Given the description of an element on the screen output the (x, y) to click on. 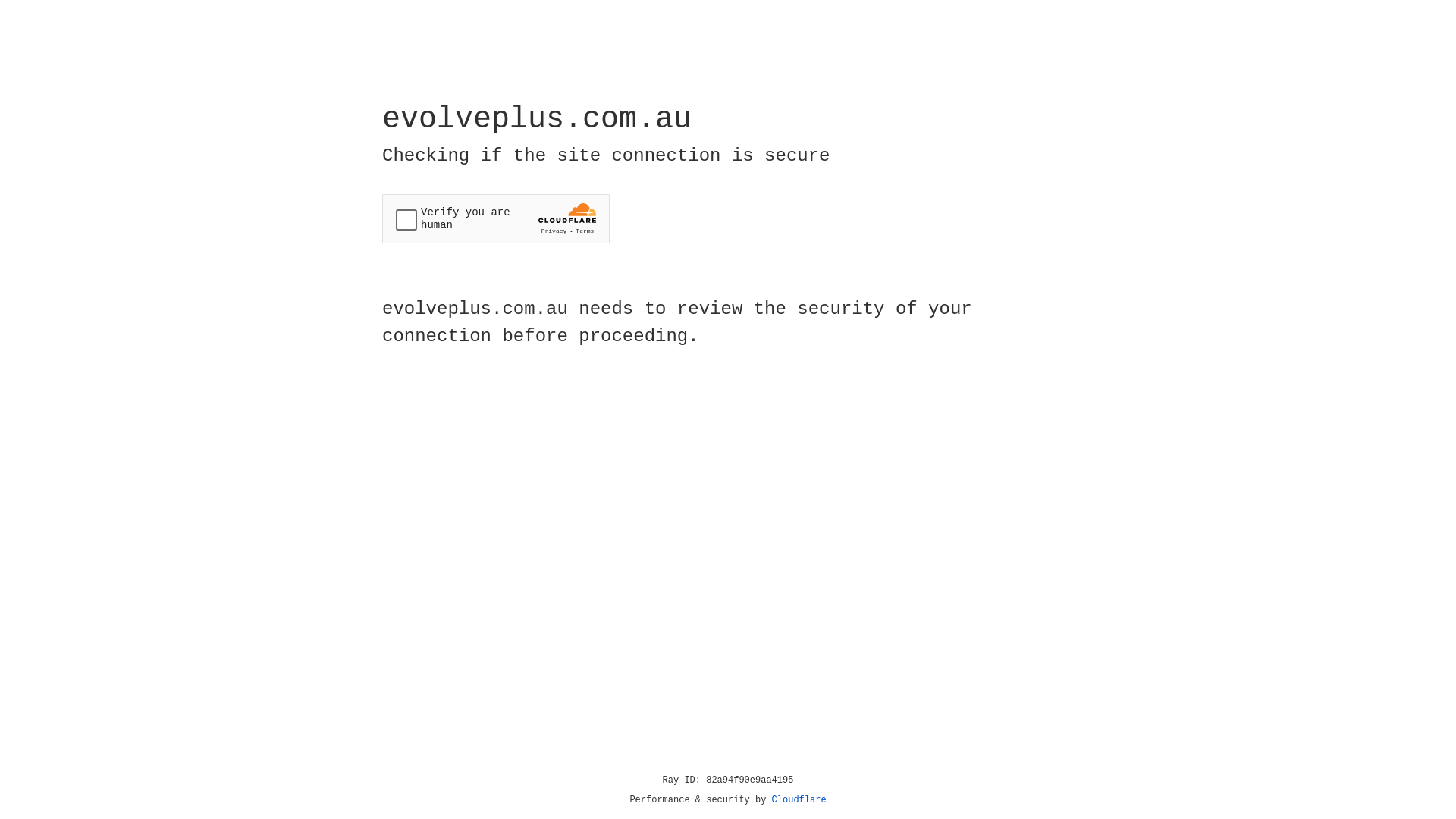
Widget containing a Cloudflare security challenge Element type: hover (495, 218)
Cloudflare Element type: text (798, 799)
